Given the description of an element on the screen output the (x, y) to click on. 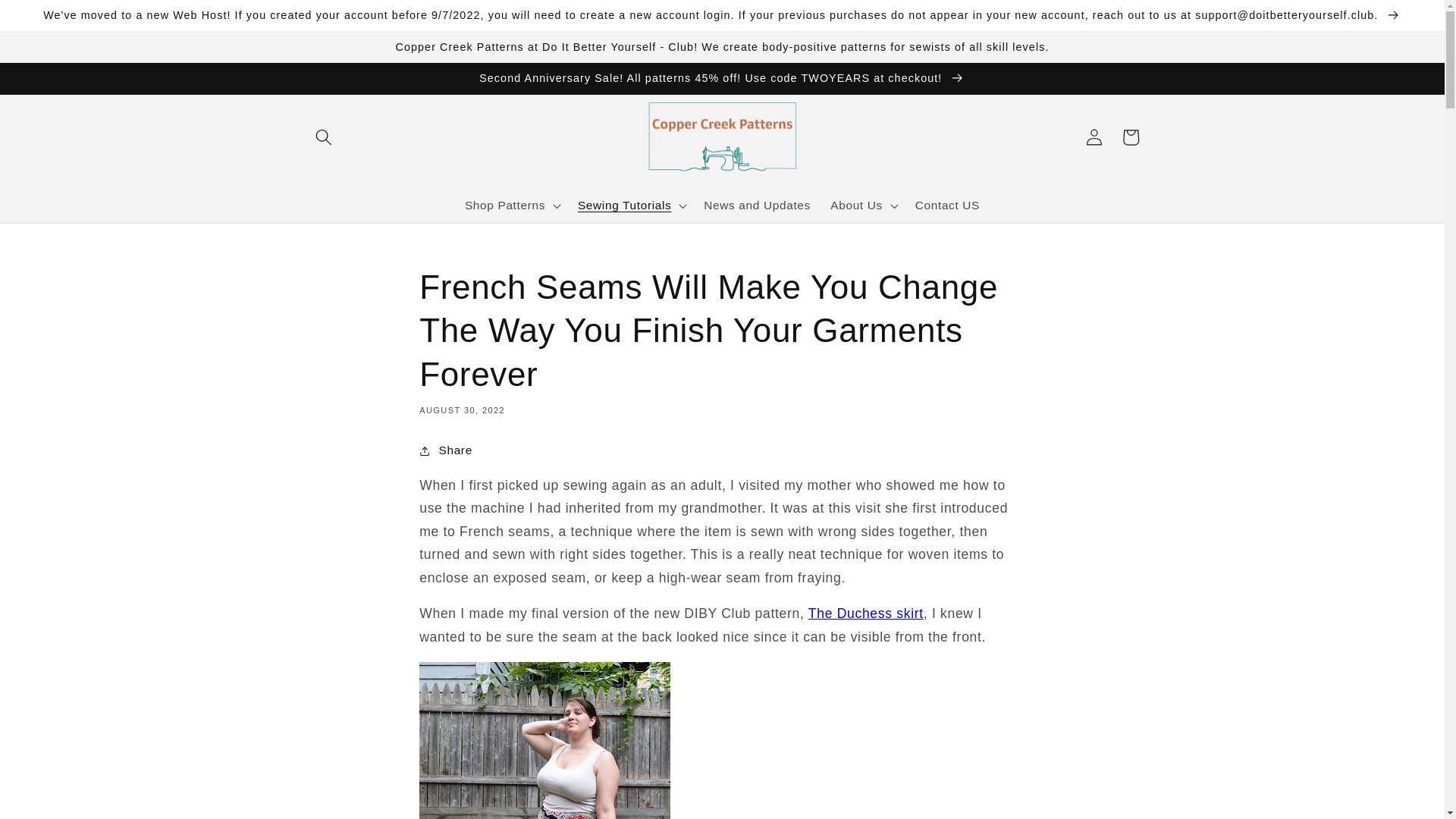
Skip to content (51, 20)
